Given the description of an element on the screen output the (x, y) to click on. 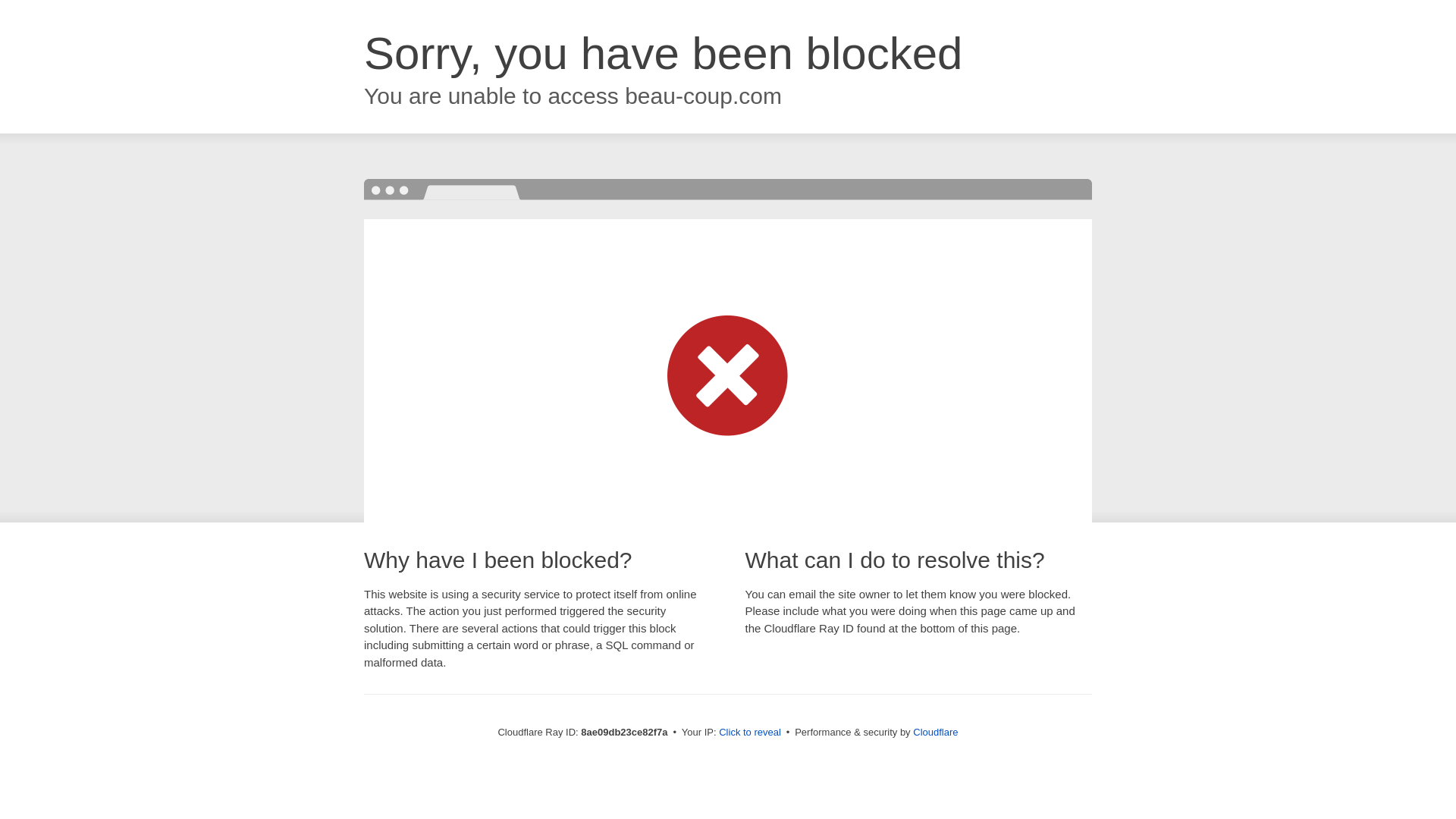
Click to reveal (749, 732)
Cloudflare (935, 731)
